Given the description of an element on the screen output the (x, y) to click on. 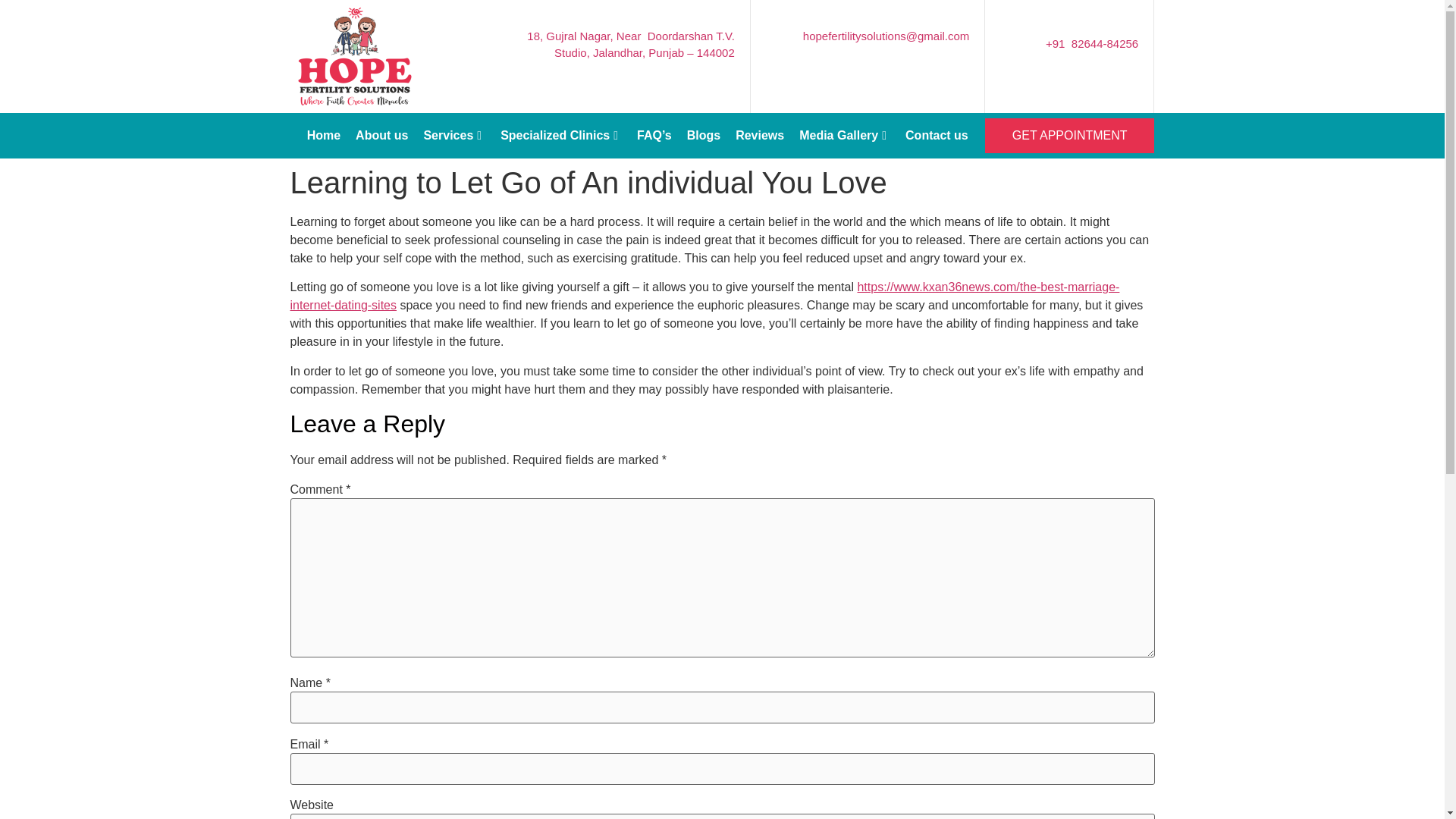
Reviews (760, 135)
Media Gallery (845, 135)
Home (323, 95)
Specialized Clinics (560, 127)
Services (453, 99)
Blogs (703, 135)
About us (380, 96)
